Given the description of an element on the screen output the (x, y) to click on. 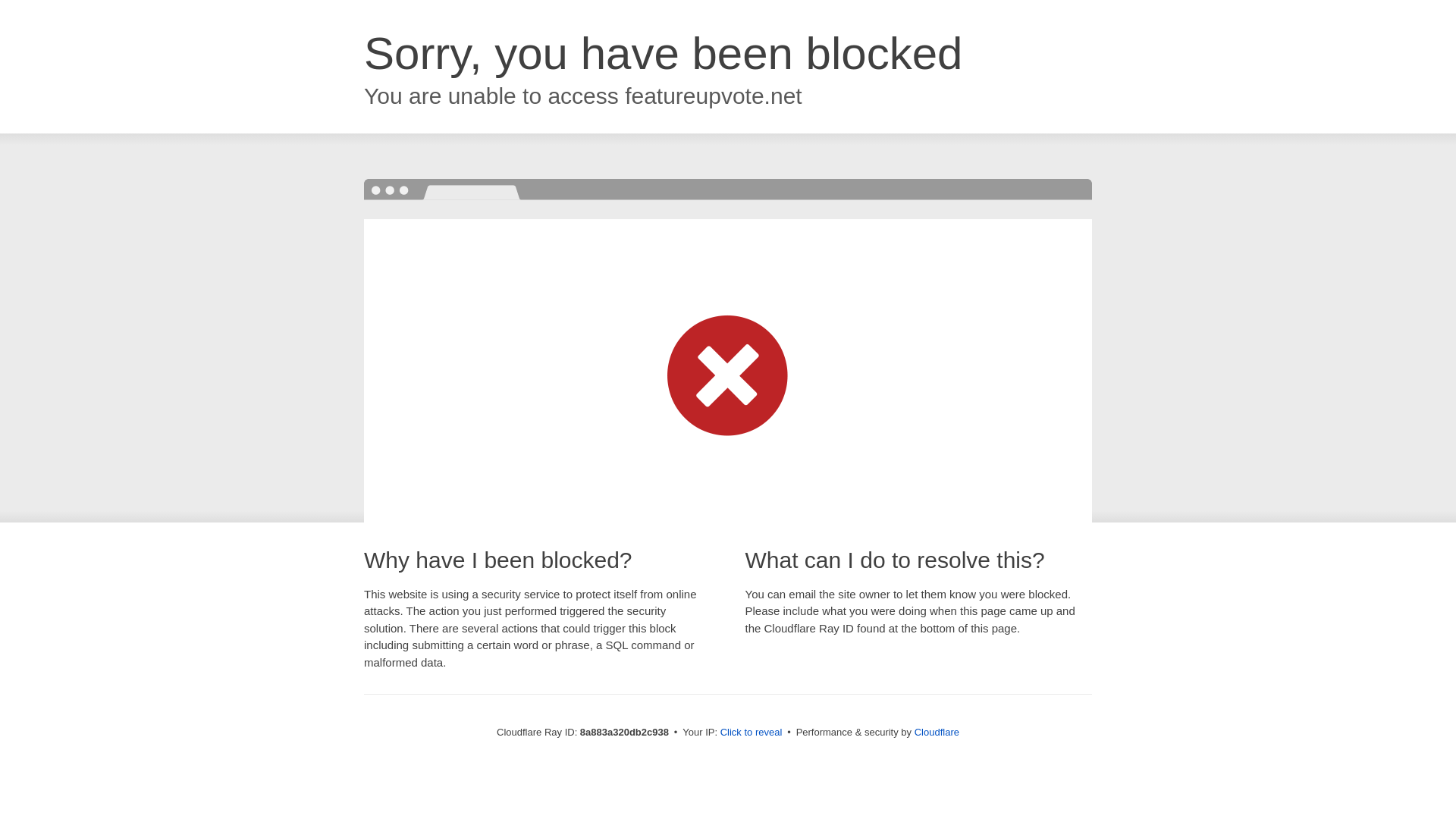
Cloudflare (936, 731)
Click to reveal (751, 732)
